Given the description of an element on the screen output the (x, y) to click on. 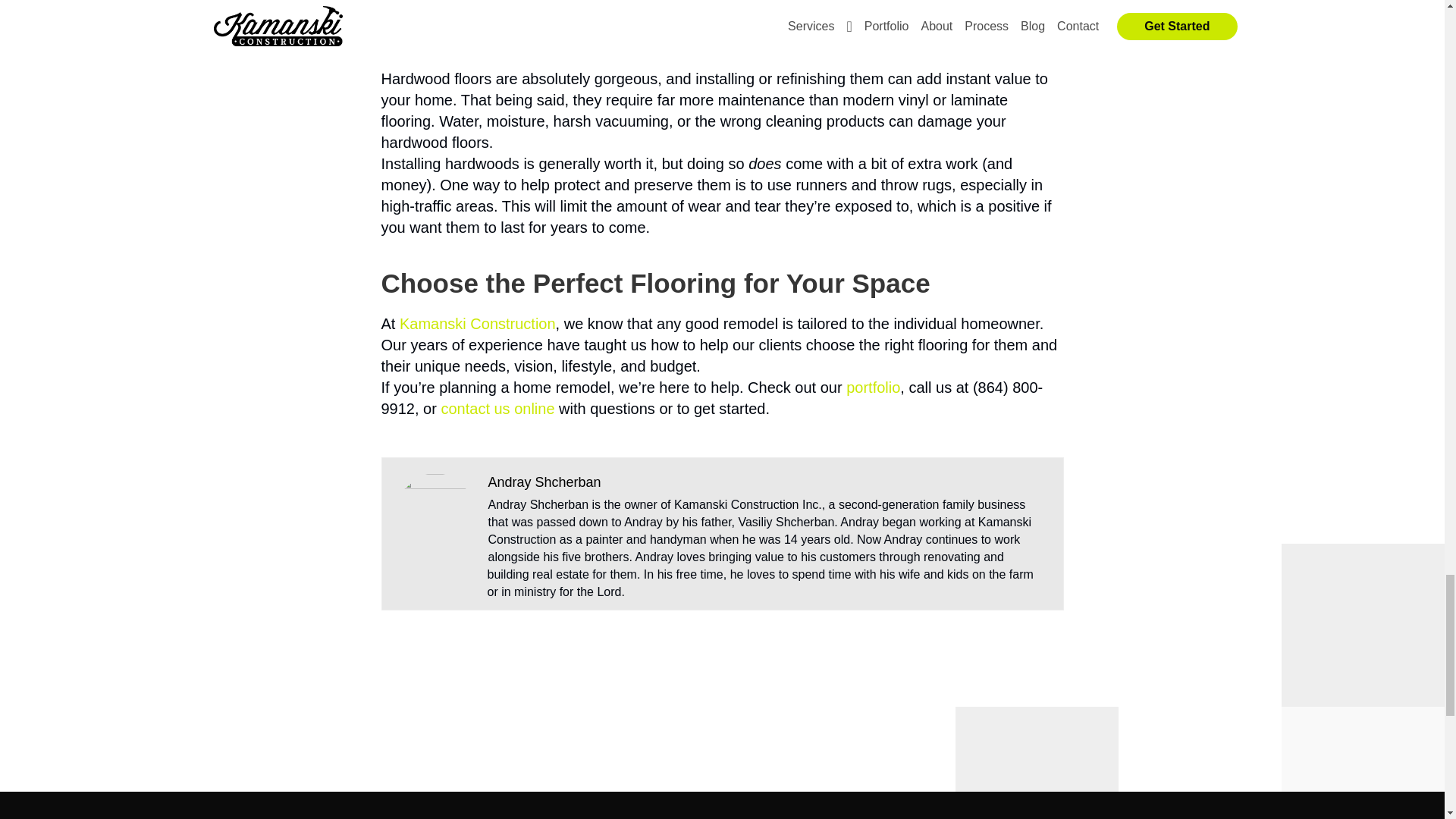
Andray Shcherban (544, 482)
portfolio (872, 387)
Kamanski Construction (477, 323)
contact us online (497, 408)
